Given the description of an element on the screen output the (x, y) to click on. 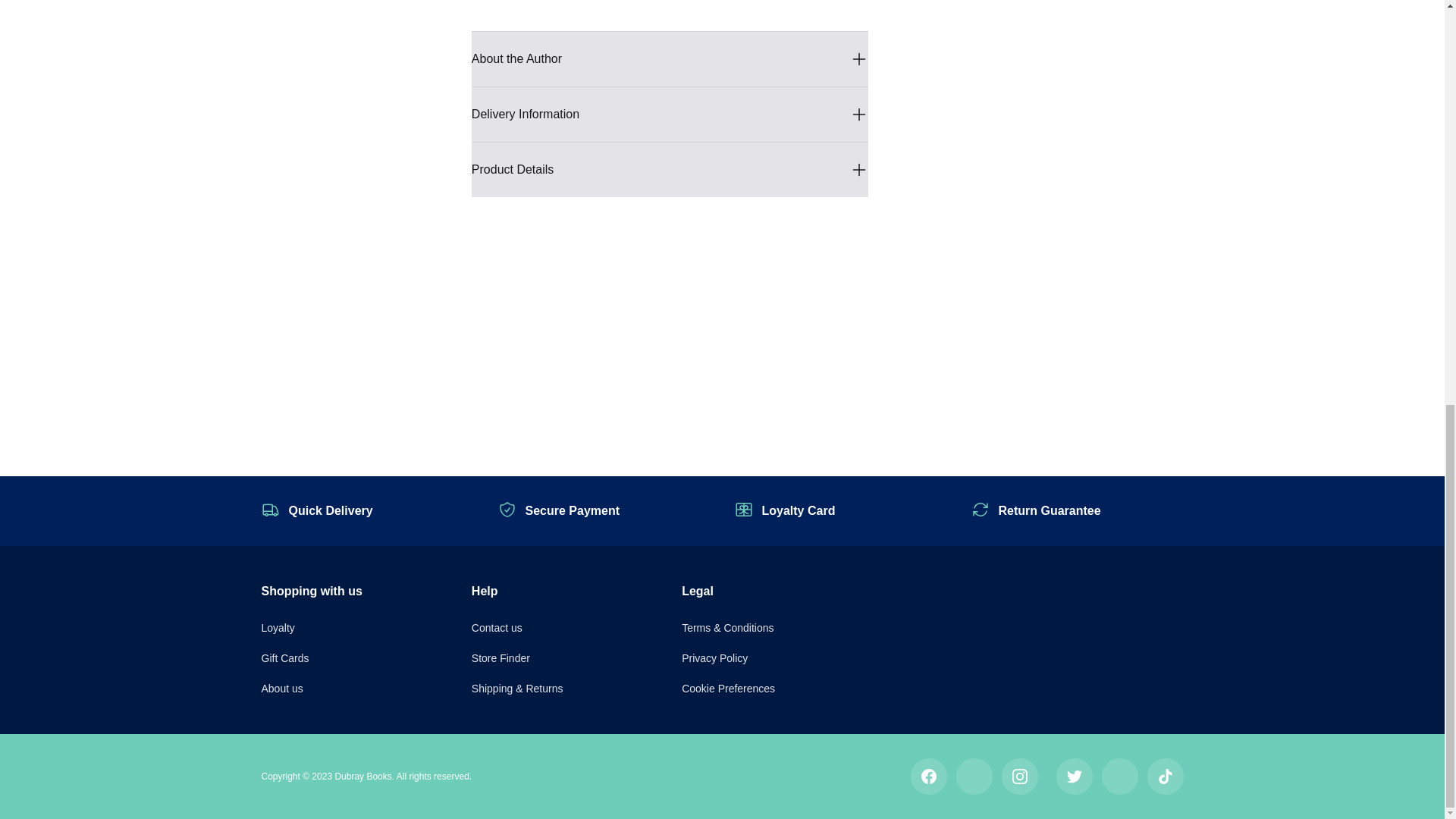
Delivery Information (669, 113)
Product Details (669, 169)
Loyalty (277, 627)
About the Author (669, 58)
